Given the description of an element on the screen output the (x, y) to click on. 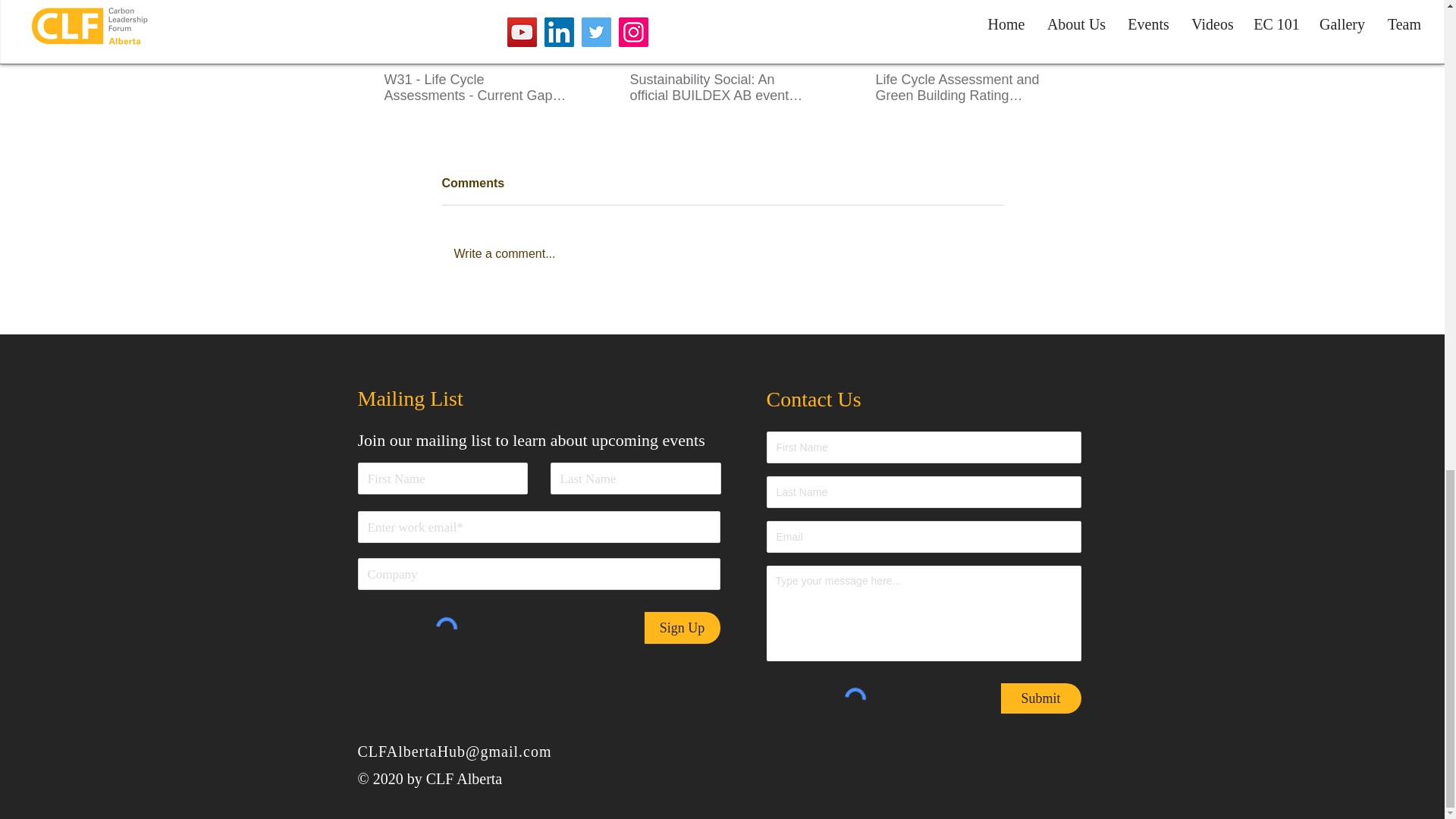
Submit (1041, 698)
Write a comment... (722, 253)
Sign Up (682, 627)
